Given the description of an element on the screen output the (x, y) to click on. 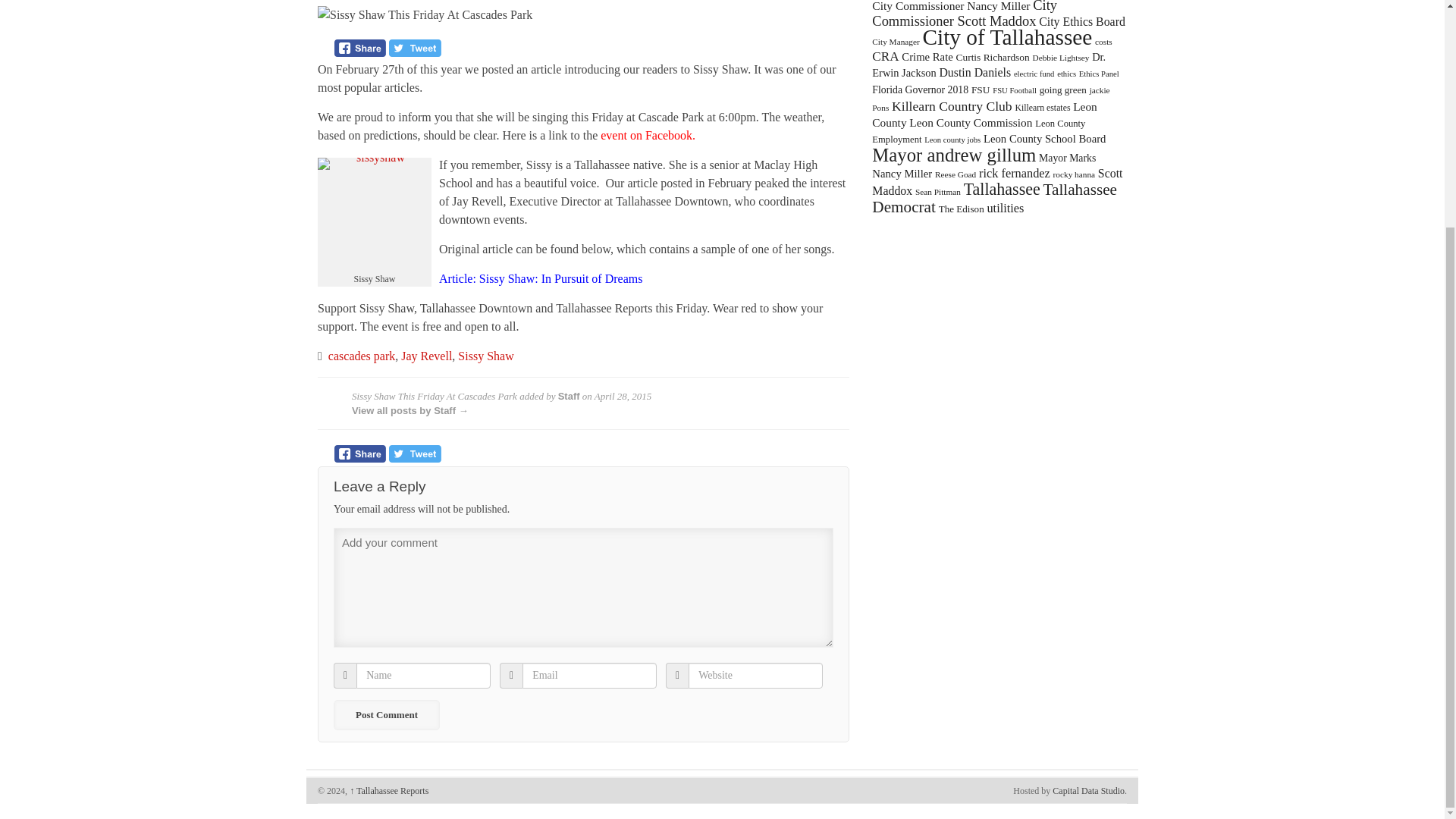
Post Comment (386, 715)
event on Facebook (646, 134)
Sissy Shaw This Friday At Cascades Park (582, 14)
